Given the description of an element on the screen output the (x, y) to click on. 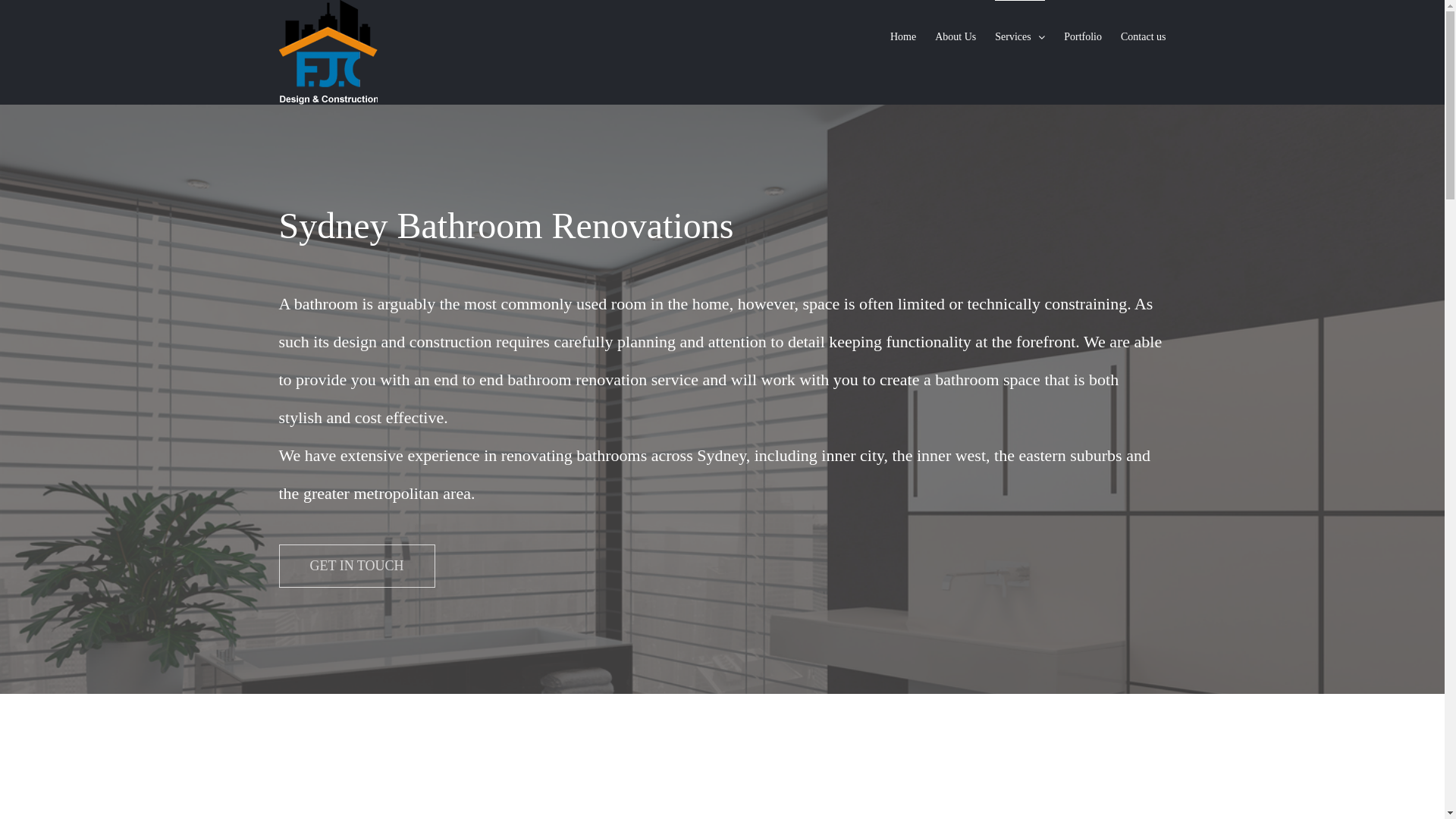
Contact us Element type: text (1143, 36)
Services Element type: text (1019, 36)
Portfolio Element type: text (1082, 36)
About Us Element type: text (955, 36)
Home Element type: text (903, 36)
GET IN TOUCH Element type: text (357, 565)
